Given the description of an element on the screen output the (x, y) to click on. 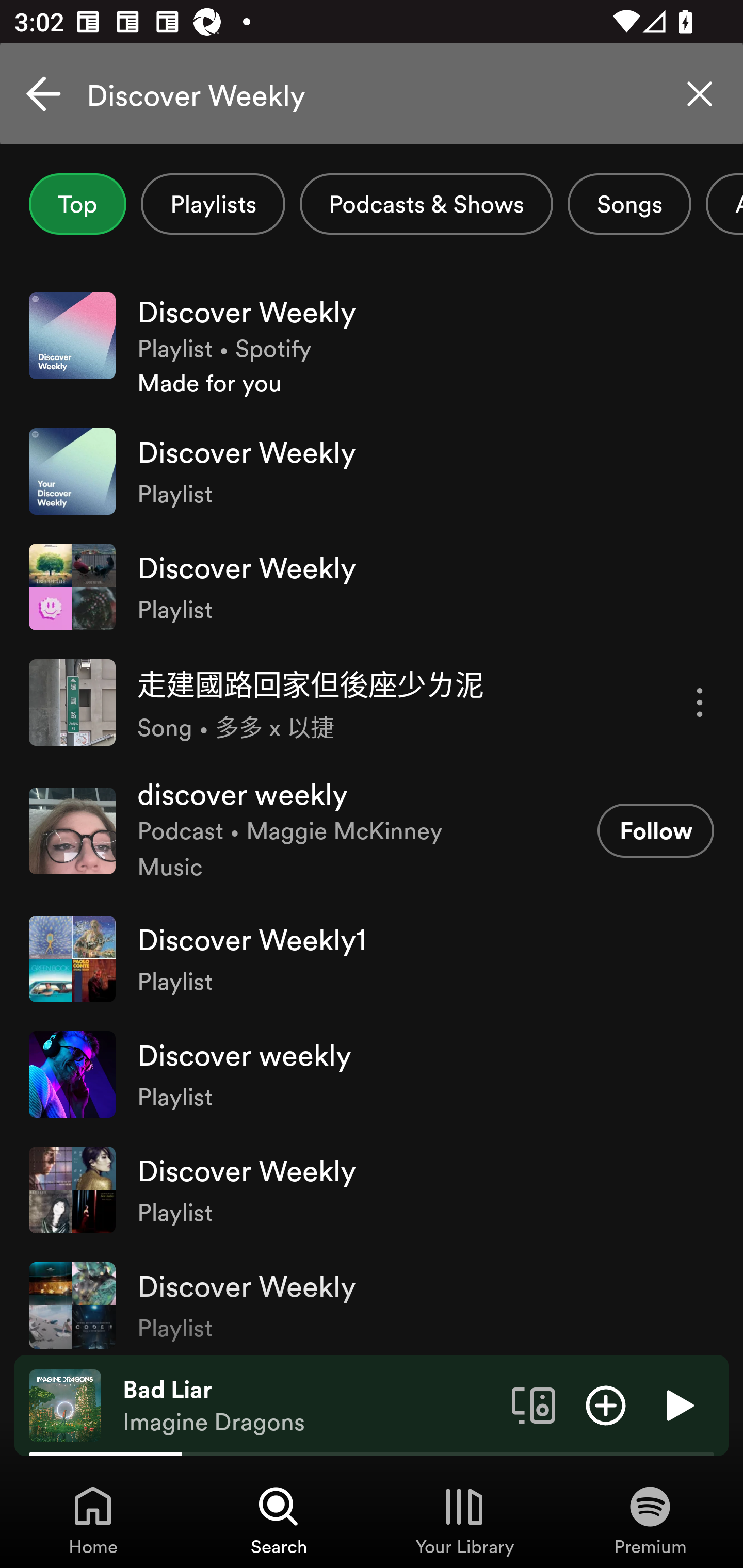
Discover Weekly (371, 93)
Cancel (43, 93)
Clear search query (699, 93)
Top (77, 203)
Playlists (213, 203)
Podcasts & Shows (425, 203)
Songs (629, 203)
Discover Weekly Playlist • Spotify Made for you (371, 345)
Discover Weekly Playlist (371, 471)
Discover Weekly Playlist (371, 586)
More options for song 走建國路回家但後座少ㄌ泥 (699, 702)
Follow (655, 829)
Discover Weekly1 Playlist (371, 958)
Discover weekly Playlist (371, 1074)
Discover Weekly Playlist (371, 1190)
Discover Weekly Playlist (371, 1301)
Bad Liar Imagine Dragons (309, 1405)
